Given the description of an element on the screen output the (x, y) to click on. 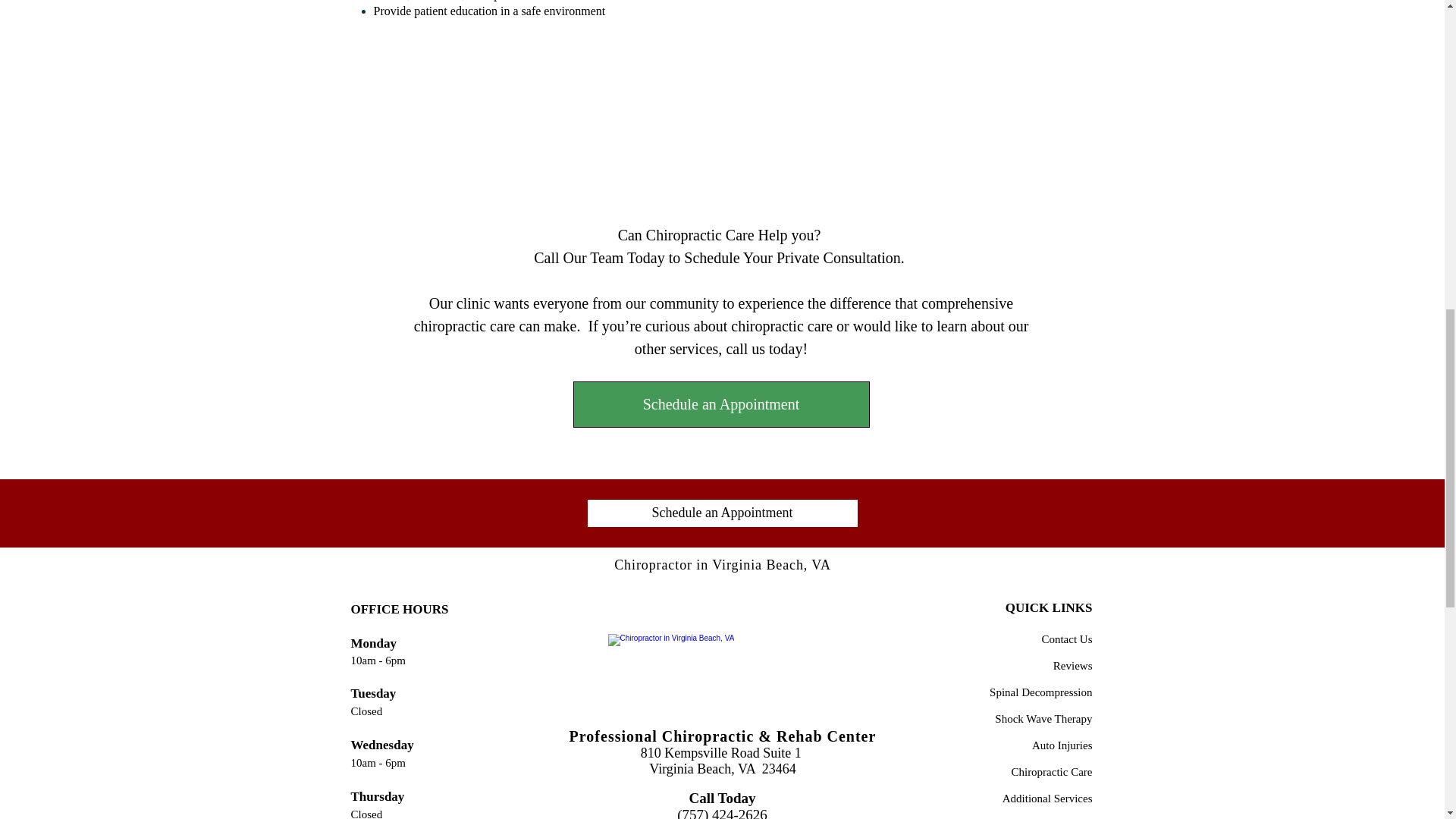
Auto Injuries (1062, 744)
Schedule an Appointment (721, 404)
Additional Services (1048, 797)
Spinal Decompression (1041, 691)
Reviews (1072, 665)
Shock Wave Therapy (1043, 717)
Contact Us (1066, 638)
Chiropractic Care (1051, 771)
Schedule an Appointment (722, 512)
